Given the description of an element on the screen output the (x, y) to click on. 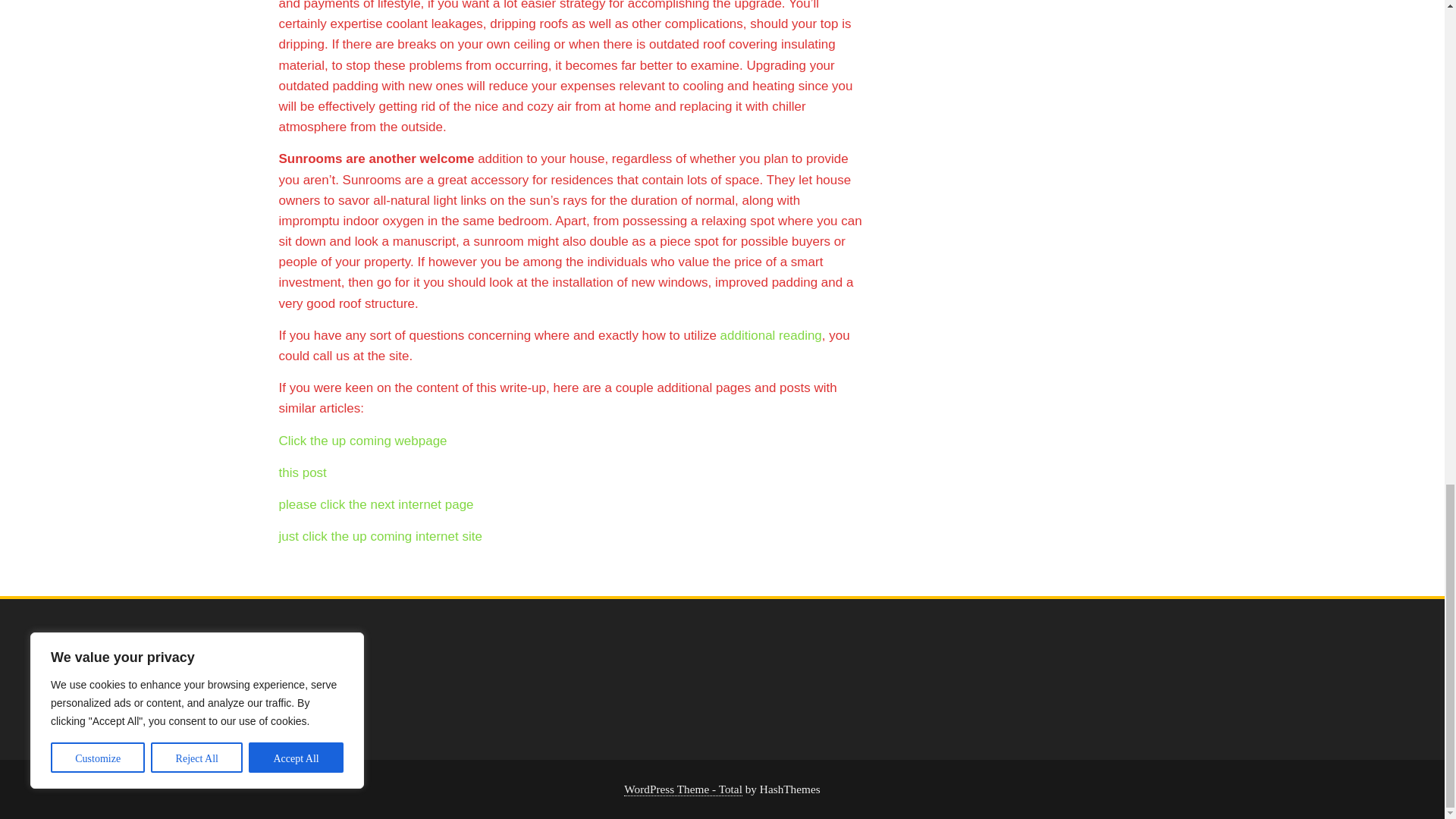
please click the next internet page (376, 504)
just click the up coming internet site (380, 536)
additional reading (771, 335)
this post (302, 472)
Click the up coming webpage (362, 440)
